Given the description of an element on the screen output the (x, y) to click on. 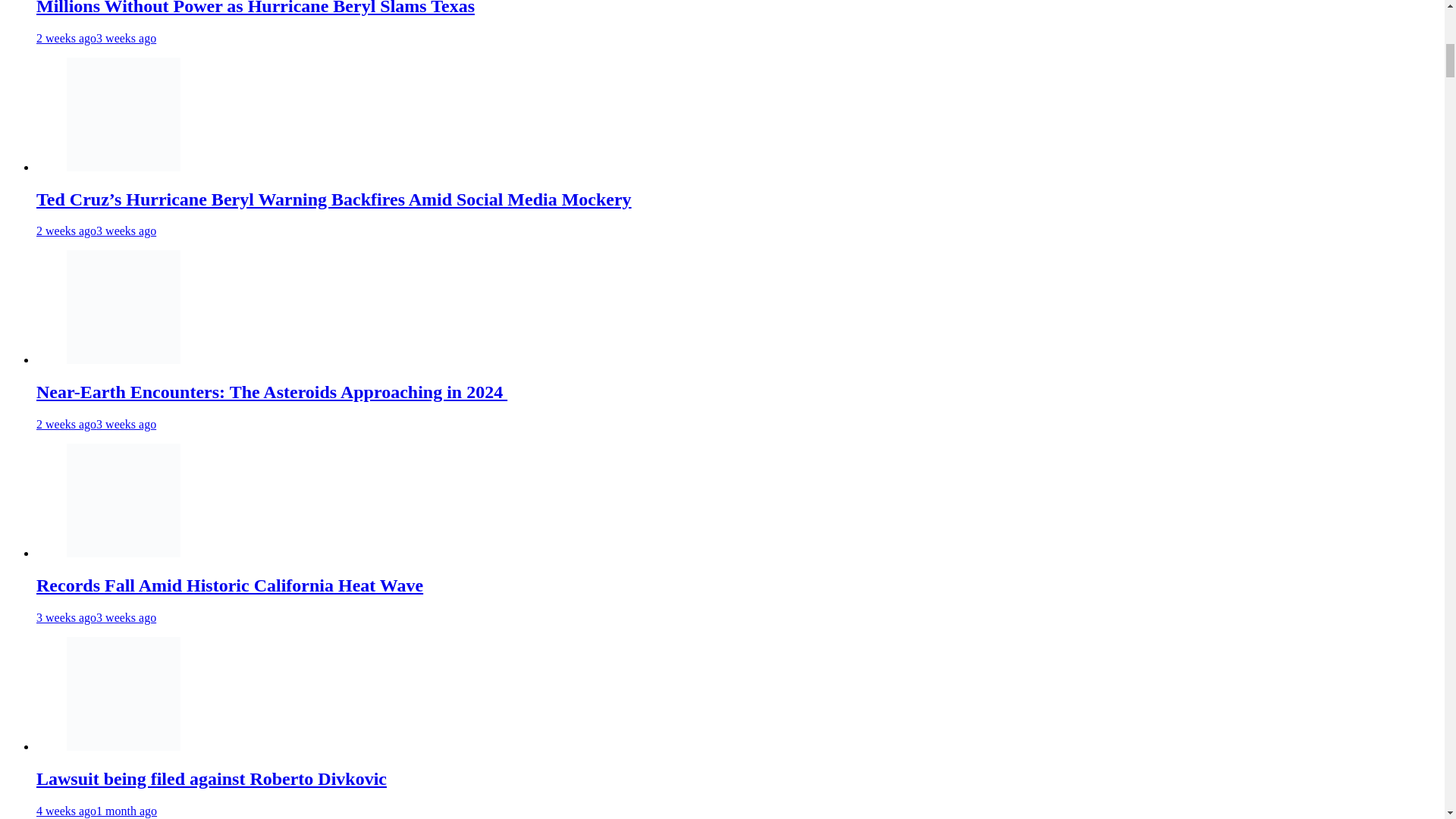
Millions Without Power as Hurricane Beryl Slams Texas (255, 7)
Records Fall Amid Historic California Heat Wave (123, 553)
Records Fall Amid Historic California Heat Wave (229, 585)
Lawsuit being filed against Roberto Divkovic (123, 694)
Lawsuit being filed against Roberto Divkovic (123, 746)
3 weeks ago3 weeks ago (95, 617)
Near-Earth Encounters: The Asteroids Approaching in 2024  (271, 392)
2 weeks ago3 weeks ago (95, 423)
Records Fall Amid Historic California Heat Wave (123, 500)
Records Fall Amid Historic California Heat Wave (229, 585)
Millions Without Power as Hurricane Beryl Slams Texas (255, 7)
Lawsuit being filed against Roberto Divkovic (211, 778)
